Given the description of an element on the screen output the (x, y) to click on. 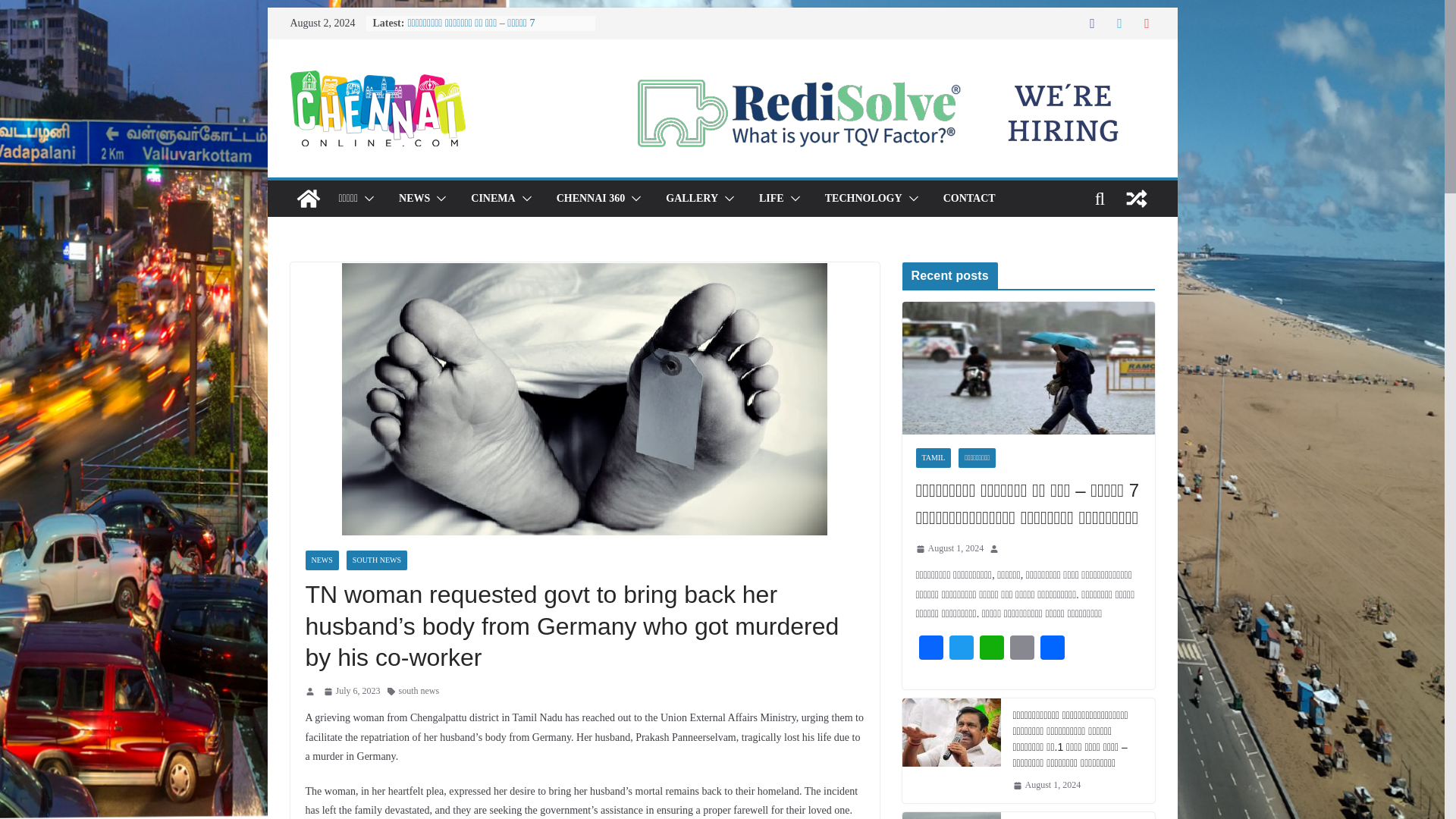
Chennaionline (307, 198)
3:03 PM (351, 691)
CHENNAI 360 (591, 198)
CINEMA (492, 198)
GALLERY (691, 198)
View a random post (1136, 198)
NEWS (413, 198)
